Given the description of an element on the screen output the (x, y) to click on. 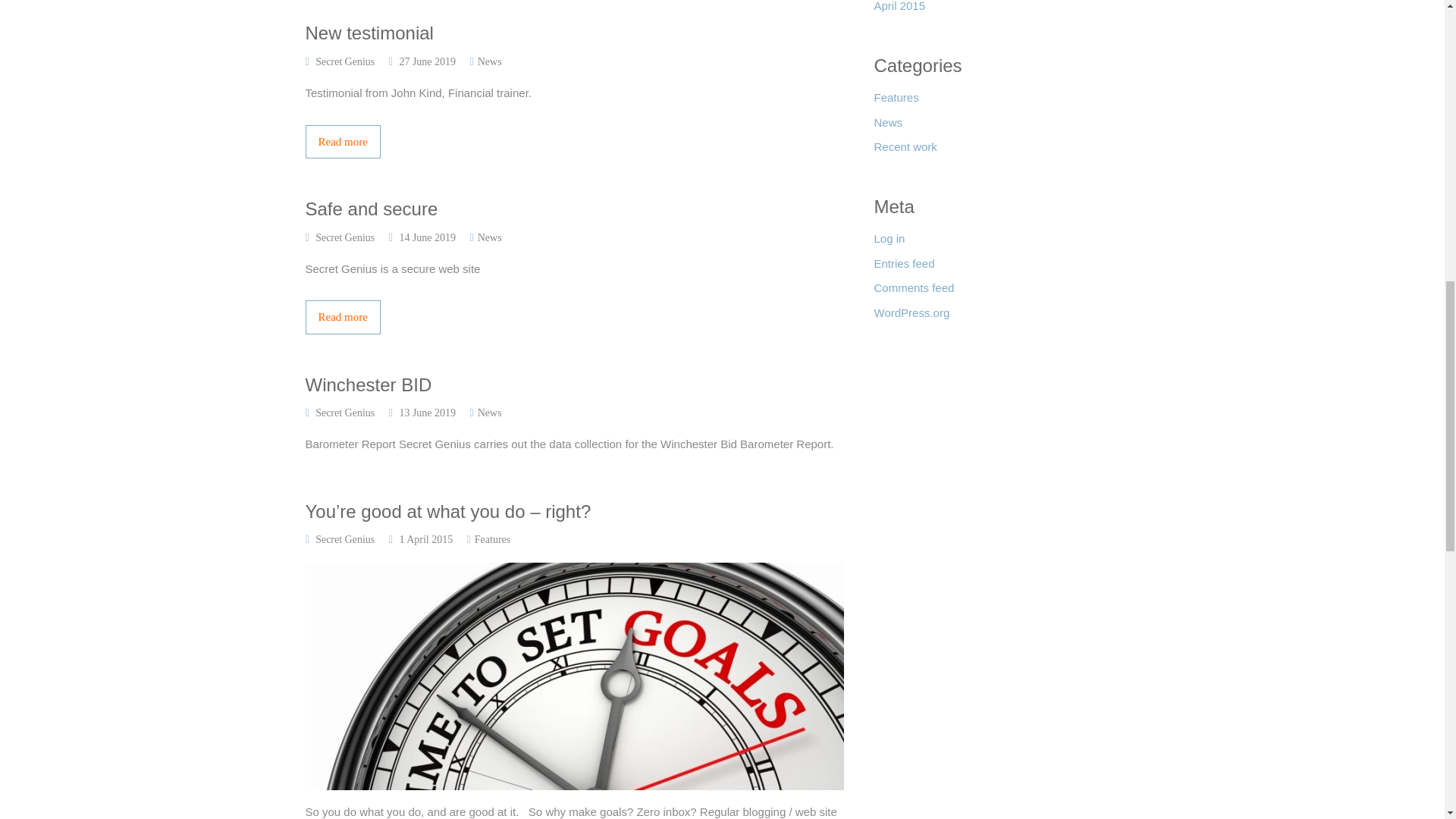
New testimonial (573, 141)
Secret Genius (344, 237)
4:11 pm (426, 61)
4:48 pm (426, 237)
News (489, 61)
New testimonial (573, 32)
14 June 2019 (426, 237)
Safe and secure (573, 208)
New testimonial (573, 32)
27 June 2019 (426, 61)
Read more (573, 141)
Safe and secure (573, 208)
Secret Genius (344, 61)
Safe and secure (573, 317)
